Given the description of an element on the screen output the (x, y) to click on. 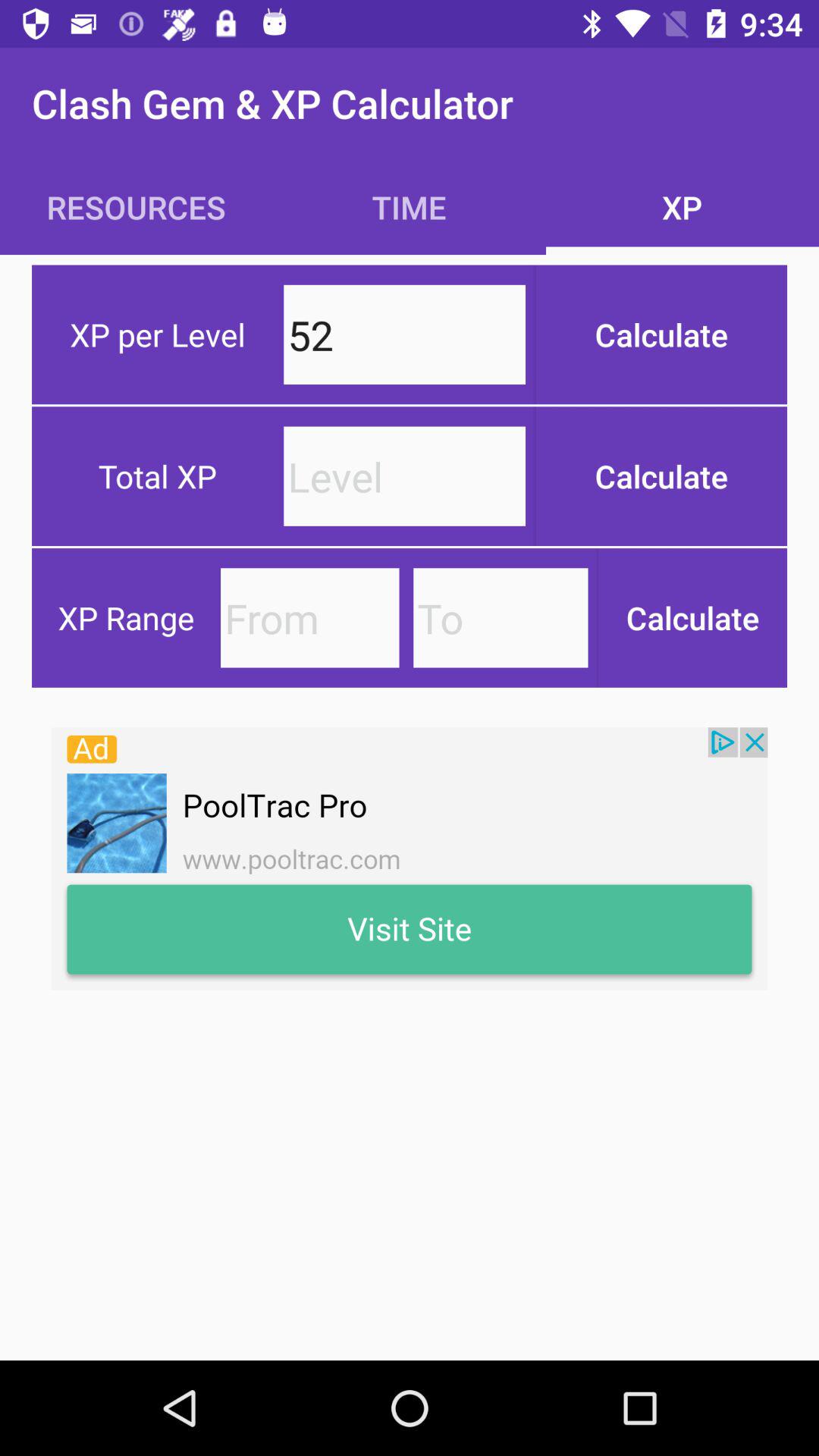
enter xp range from (309, 617)
